Given the description of an element on the screen output the (x, y) to click on. 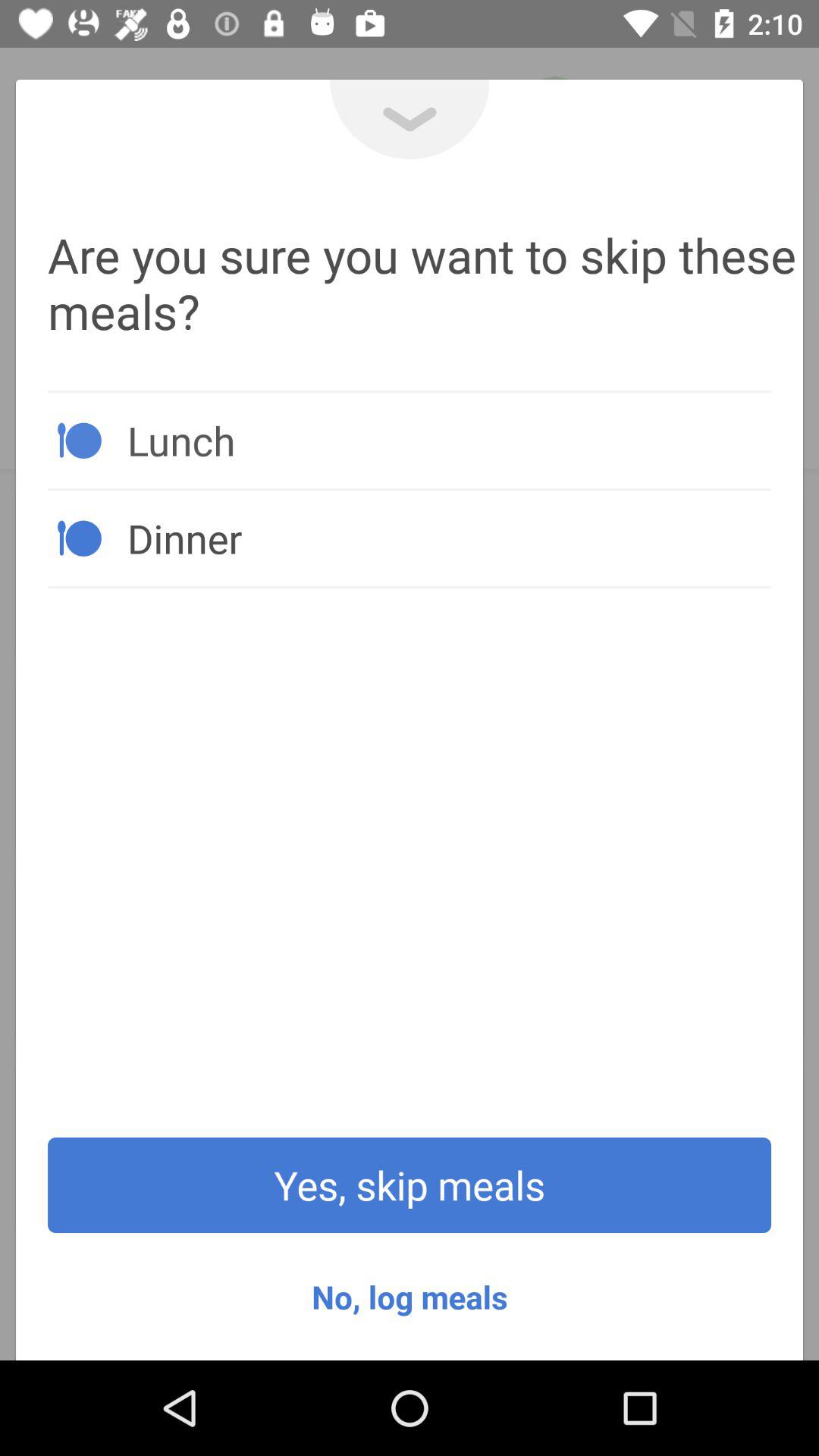
turn off icon above yes, skip meals icon (449, 537)
